Given the description of an element on the screen output the (x, y) to click on. 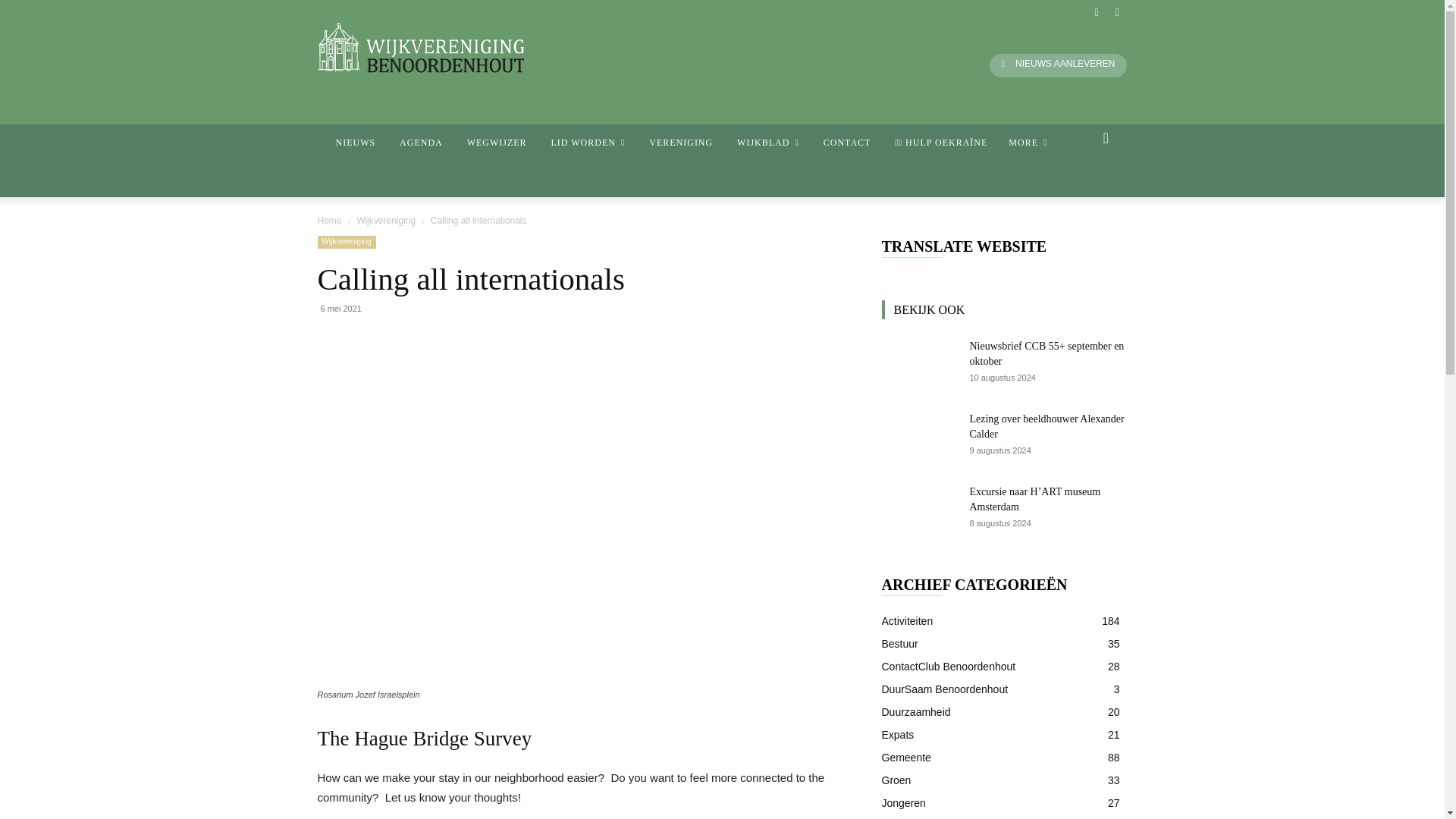
Facebook (1096, 12)
NIEUWS (354, 142)
NIEUWS AANLEVEREN (1058, 65)
Bekijk alle posts in Wijkvereniging (385, 220)
CONTACT (847, 142)
Twitter (1116, 12)
Nieuws aanleveren (1058, 65)
Wijkvereniging Benoordenhout (419, 47)
AGENDA (420, 142)
Wijkvereniging Benoordenhout (475, 47)
